Given the description of an element on the screen output the (x, y) to click on. 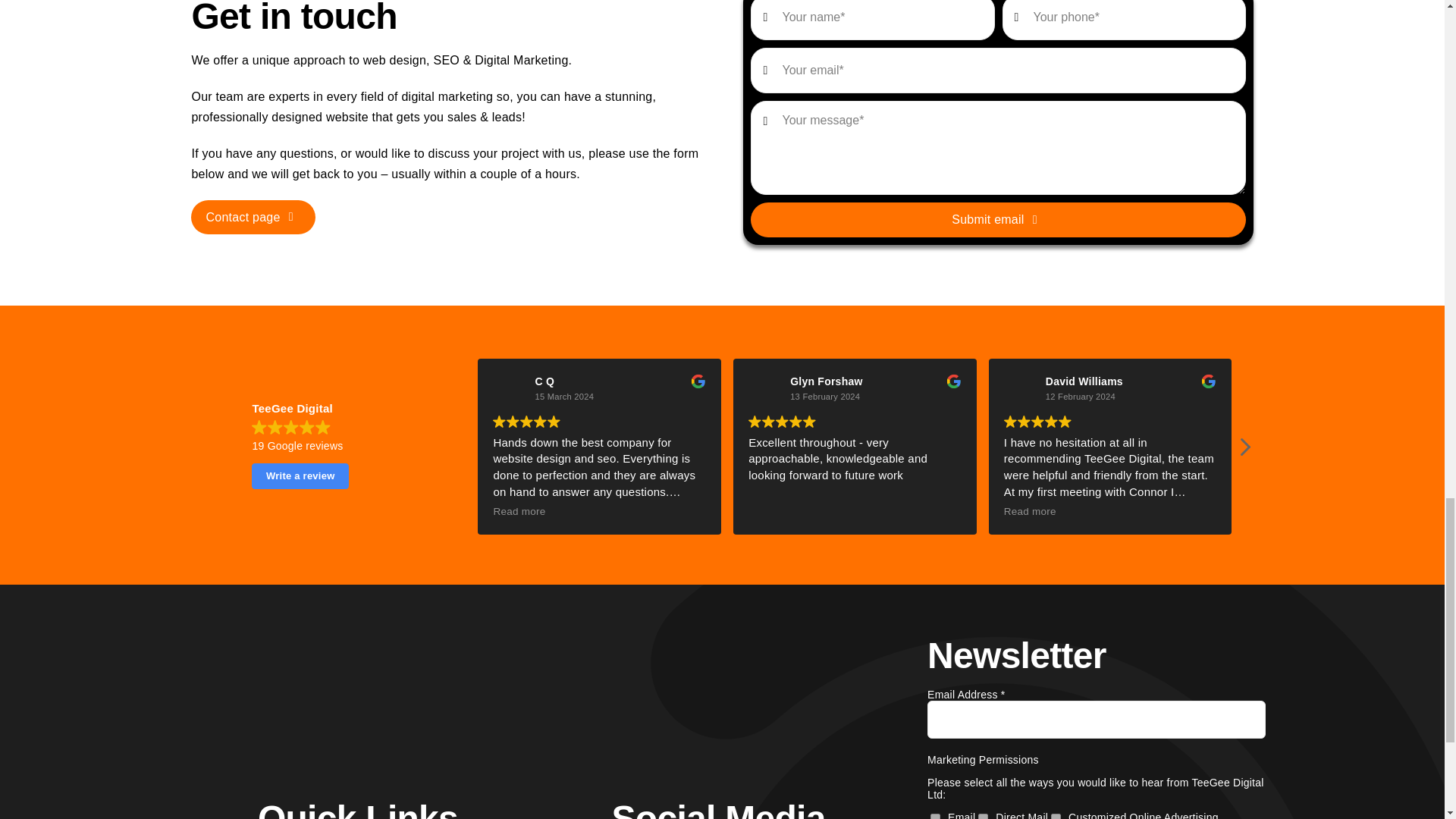
Y (983, 816)
Y (1056, 816)
Submit email (997, 118)
Y (935, 816)
